Given the description of an element on the screen output the (x, y) to click on. 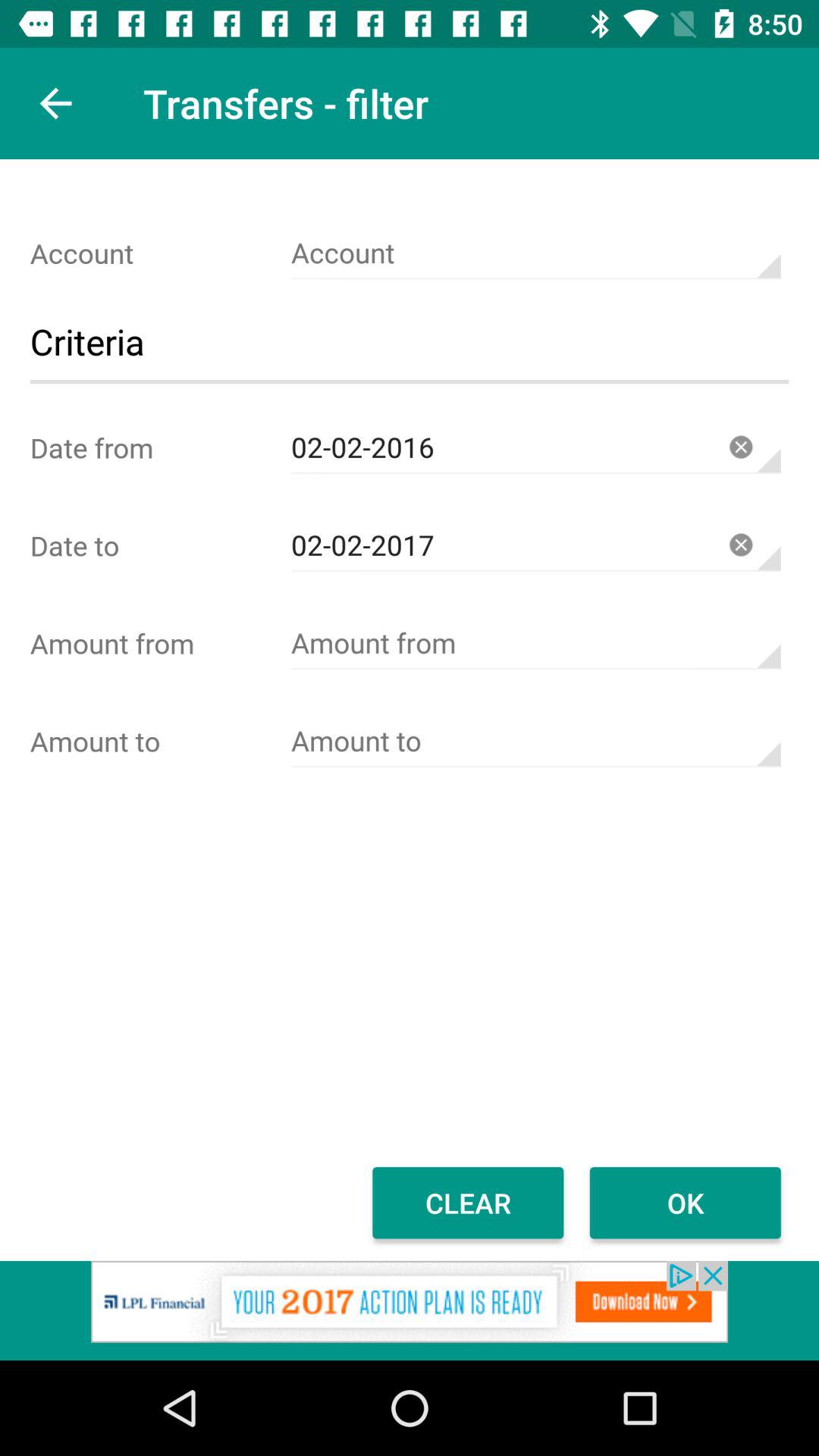
go to advertisement link (409, 1310)
